Given the description of an element on the screen output the (x, y) to click on. 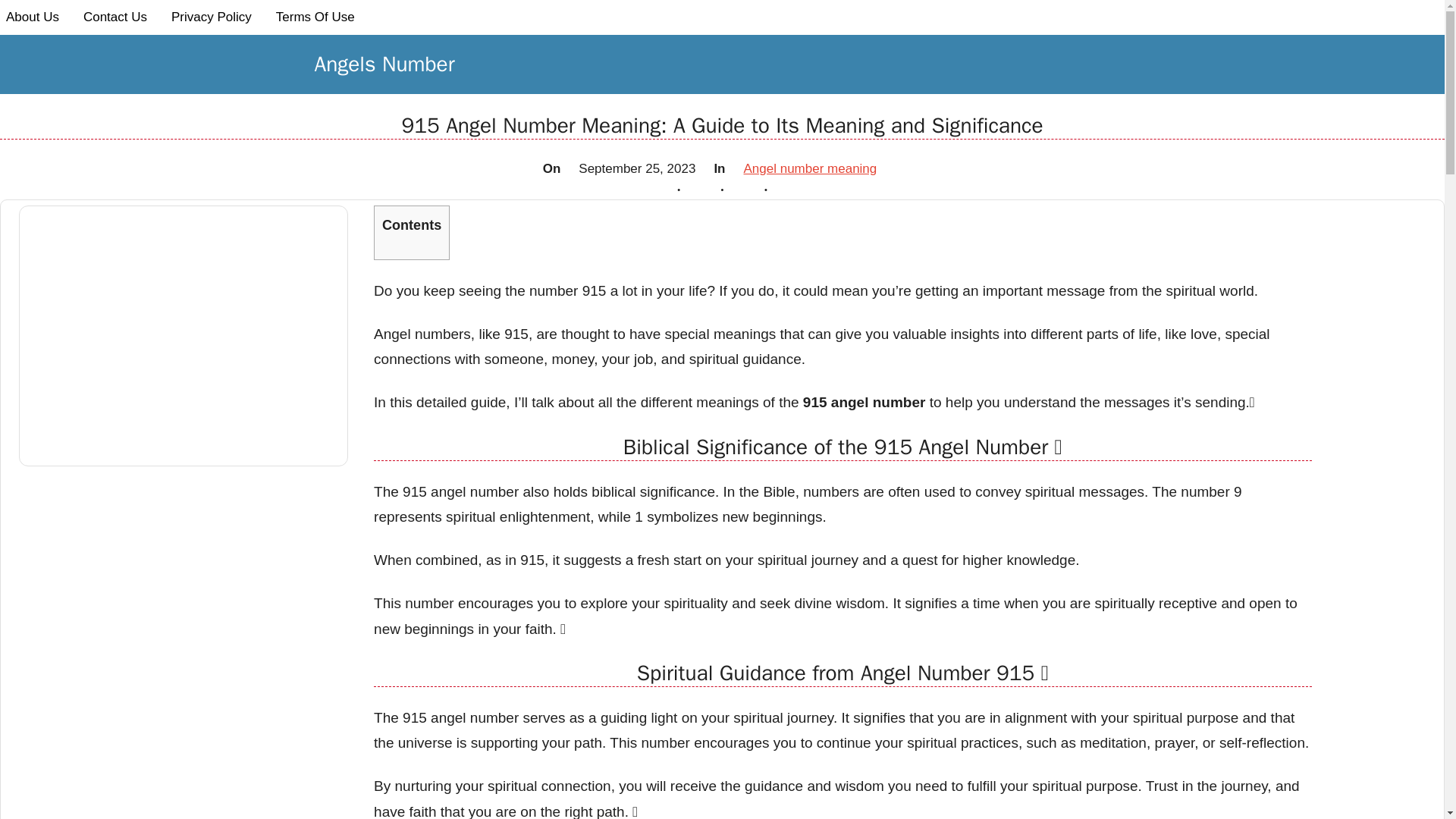
Privacy Policy (211, 17)
Angels Number (384, 63)
Terms Of Use (315, 17)
Contact Us (114, 17)
About Us (32, 17)
Angel number meaning (809, 168)
